Given the description of an element on the screen output the (x, y) to click on. 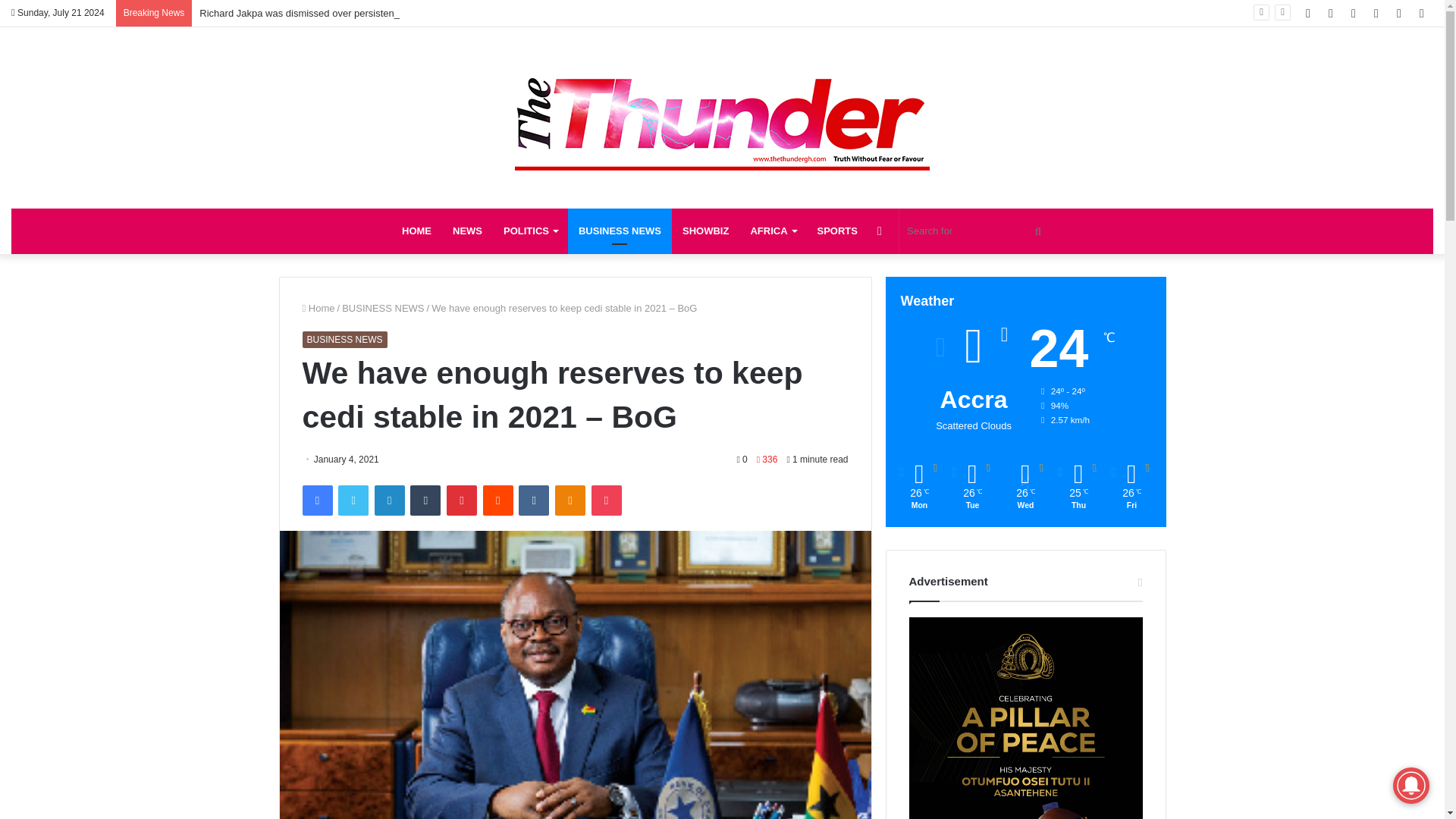
Pocket (606, 500)
HOME (416, 230)
Tumblr (425, 500)
Pinterest (461, 500)
NEWS (467, 230)
Odnoklassniki (569, 500)
SPORTS (836, 230)
Odnoklassniki (569, 500)
SHOWBIZ (705, 230)
Thunder! (722, 109)
BUSINESS NEWS (619, 230)
POLITICS (530, 230)
AFRICA (772, 230)
Tumblr (425, 500)
LinkedIn (389, 500)
